Given the description of an element on the screen output the (x, y) to click on. 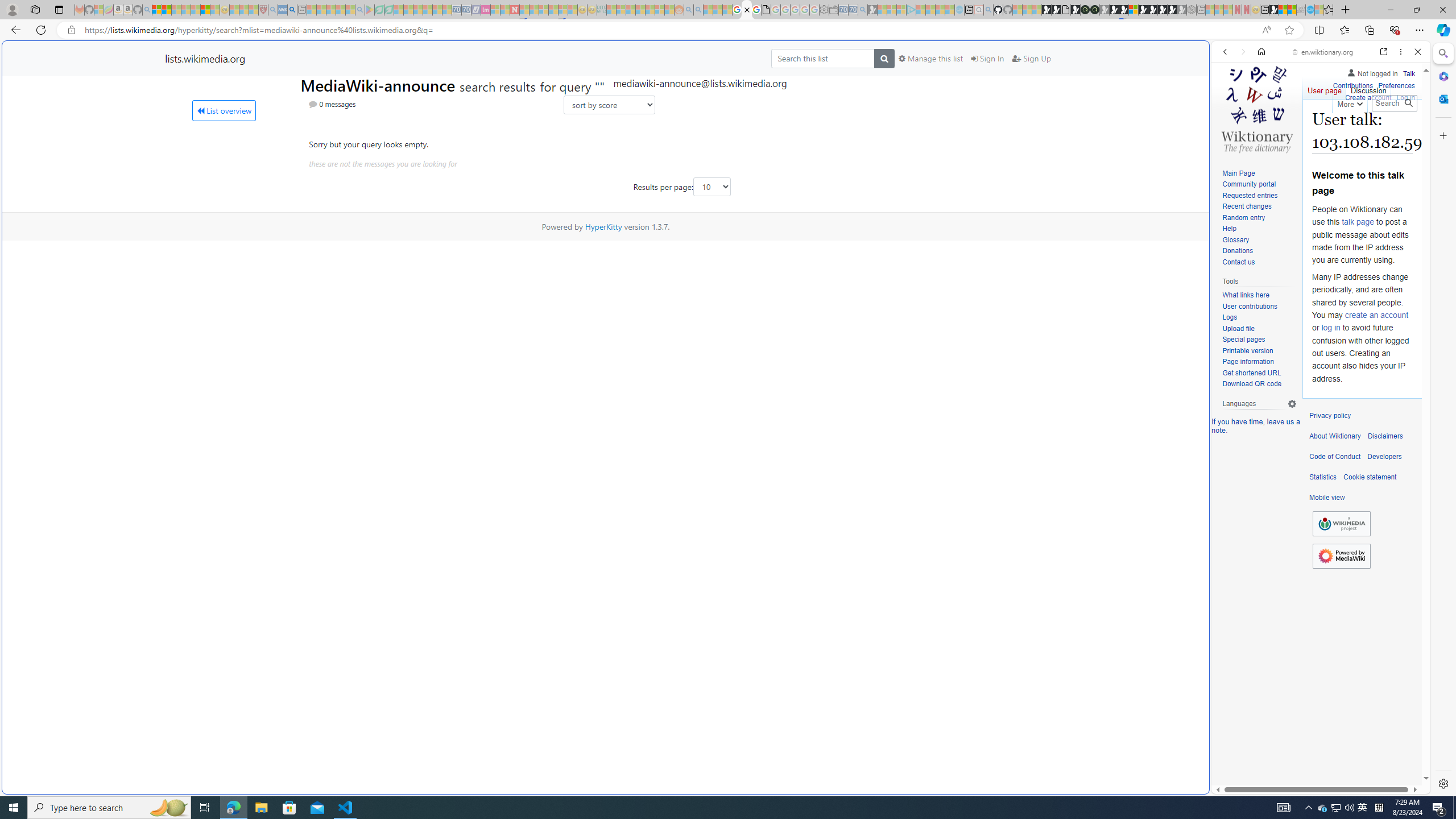
WEB   (1230, 130)
Actions for this site (1370, 583)
User page (1324, 87)
Search Filter, Search Tools (1350, 129)
Earth has six continents not seven, radical new study claims (1291, 9)
Tabs you've opened (885, 151)
Close split screen (1208, 57)
